Given the description of an element on the screen output the (x, y) to click on. 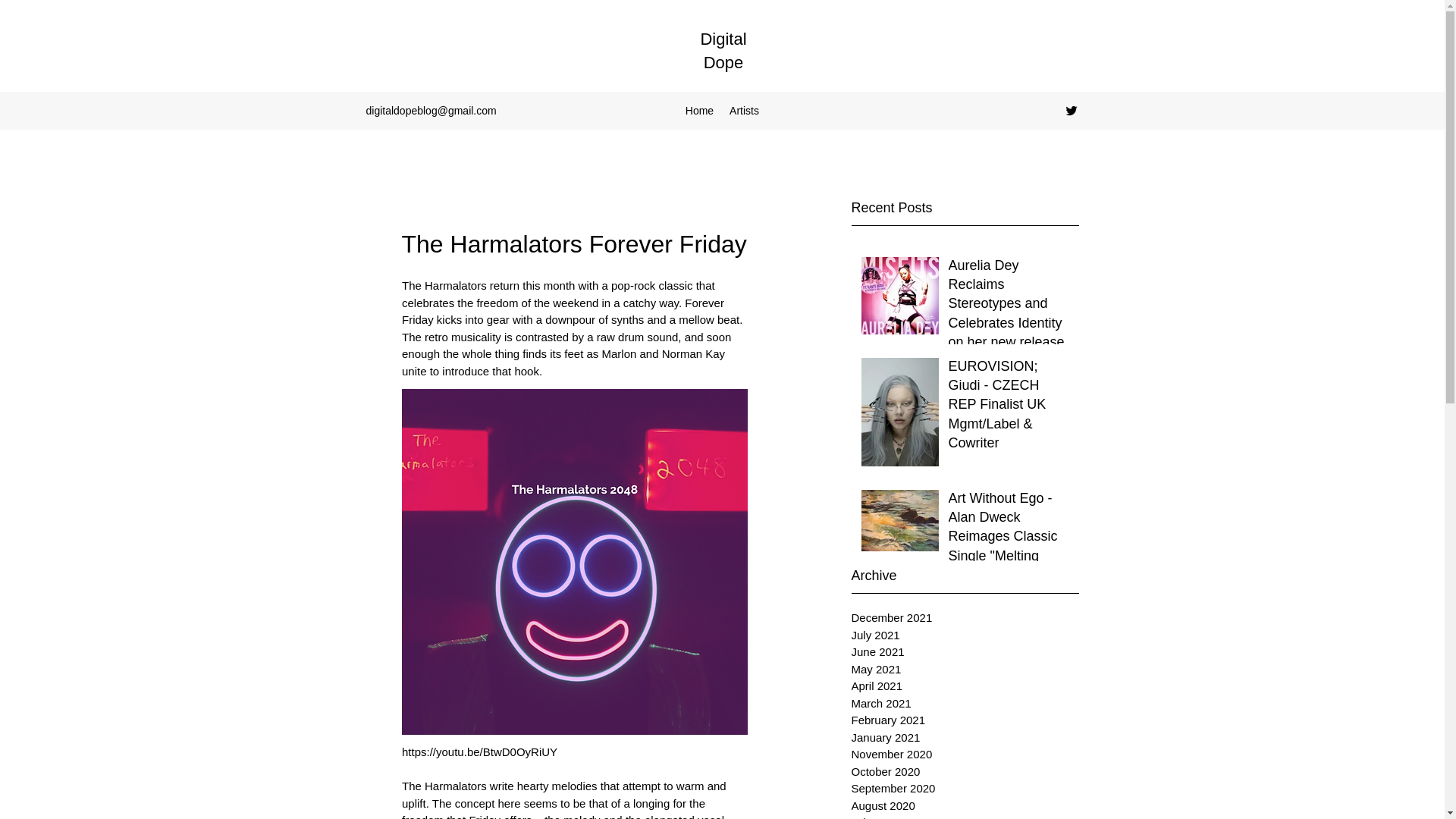
October 2020 (964, 772)
November 2020 (964, 754)
December 2021 (964, 618)
Home (700, 110)
May 2021 (964, 669)
February 2021 (964, 720)
March 2021 (964, 703)
July 2021 (964, 635)
January 2021 (964, 737)
September 2020 (964, 788)
July 2020 (964, 816)
April 2021 (964, 686)
June 2021 (964, 651)
